Given the description of an element on the screen output the (x, y) to click on. 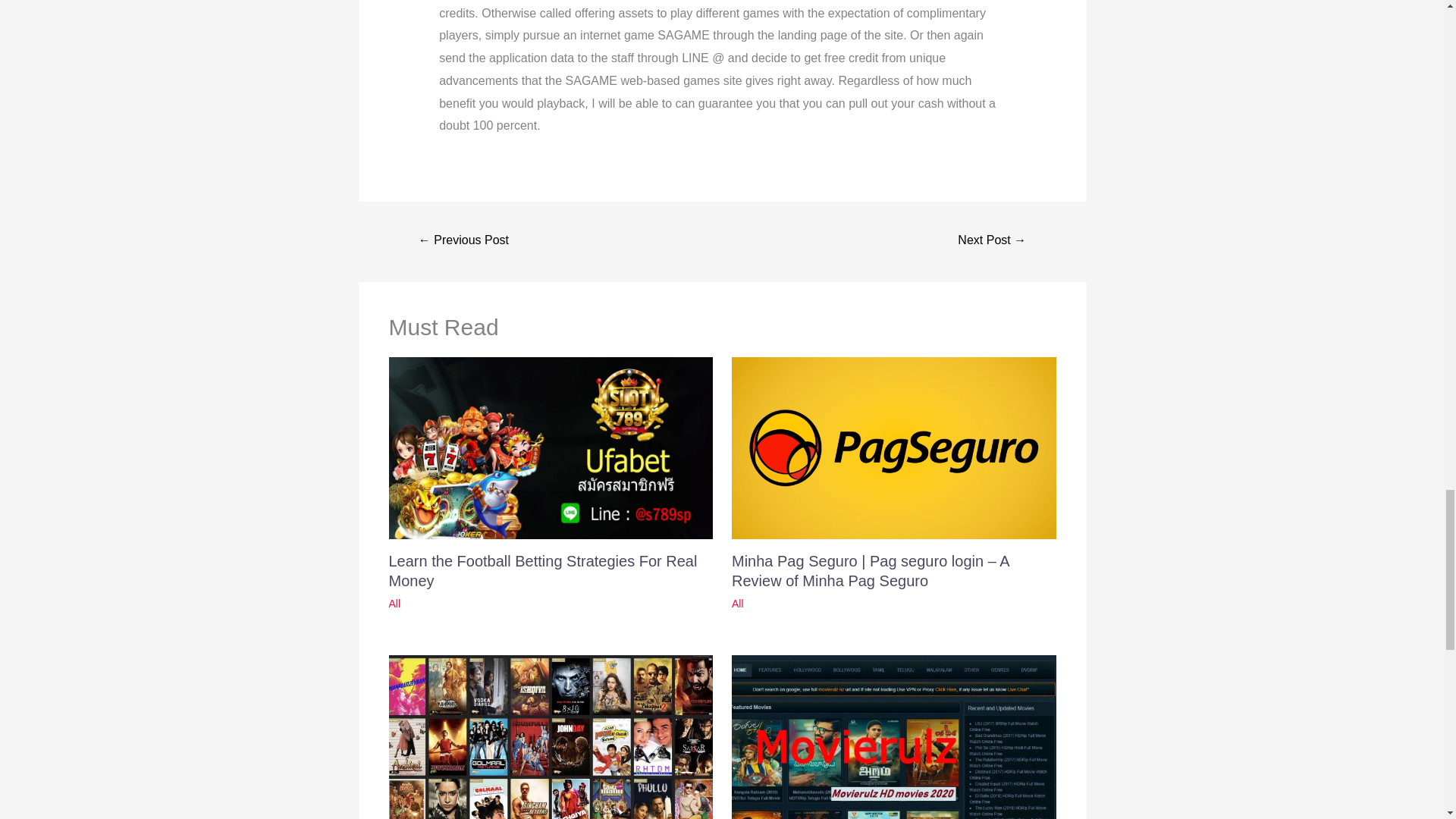
All (394, 603)
The Top Dog Breeds That Don't Shed (463, 241)
Top-Performing Logo Design Agencies in the World (991, 241)
All (738, 603)
Learn the Football Betting Strategies For Real Money (542, 570)
